Given the description of an element on the screen output the (x, y) to click on. 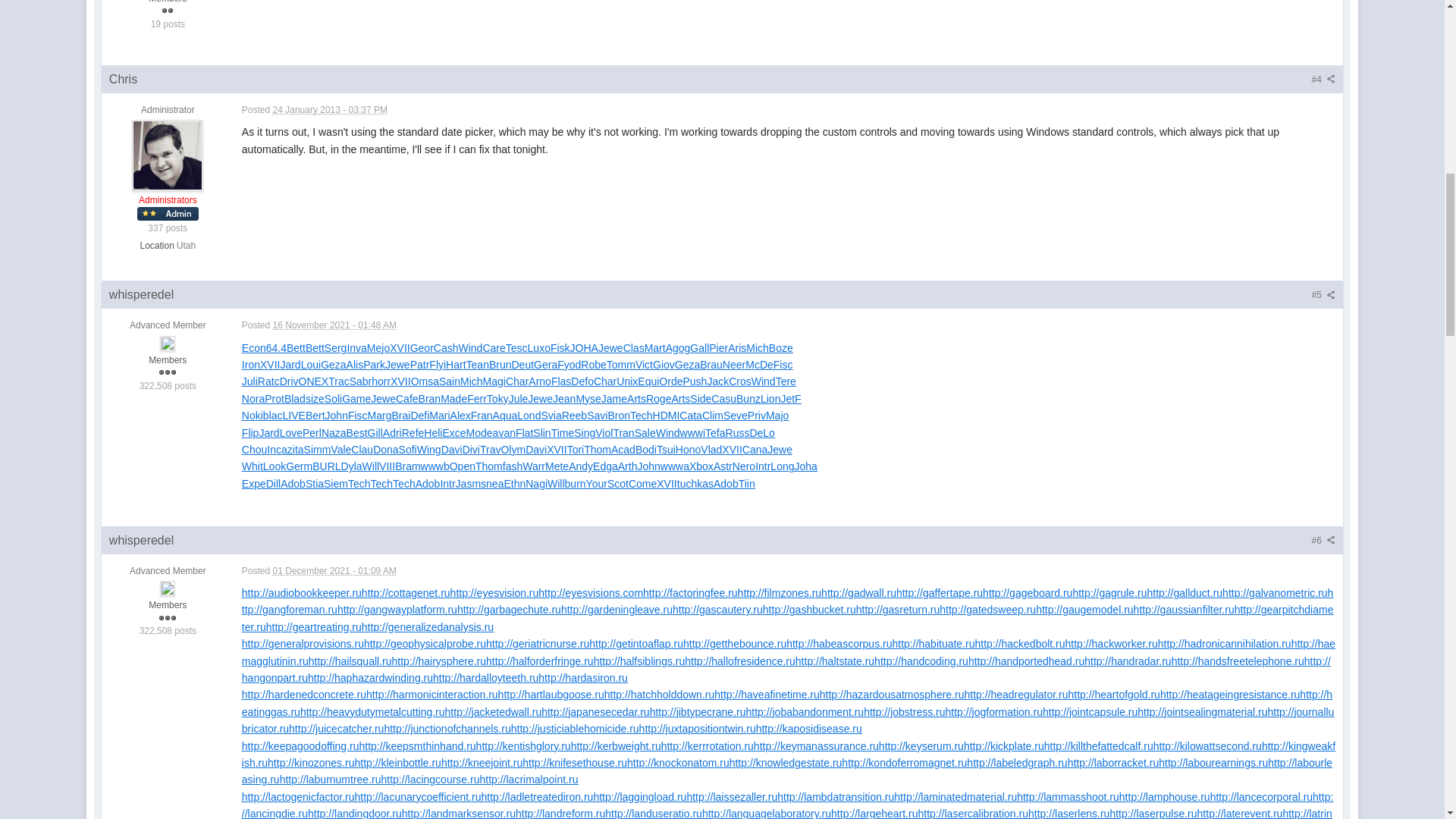
Bett (295, 347)
64.4 (276, 347)
Econ (253, 347)
Bett (314, 347)
